Given the description of an element on the screen output the (x, y) to click on. 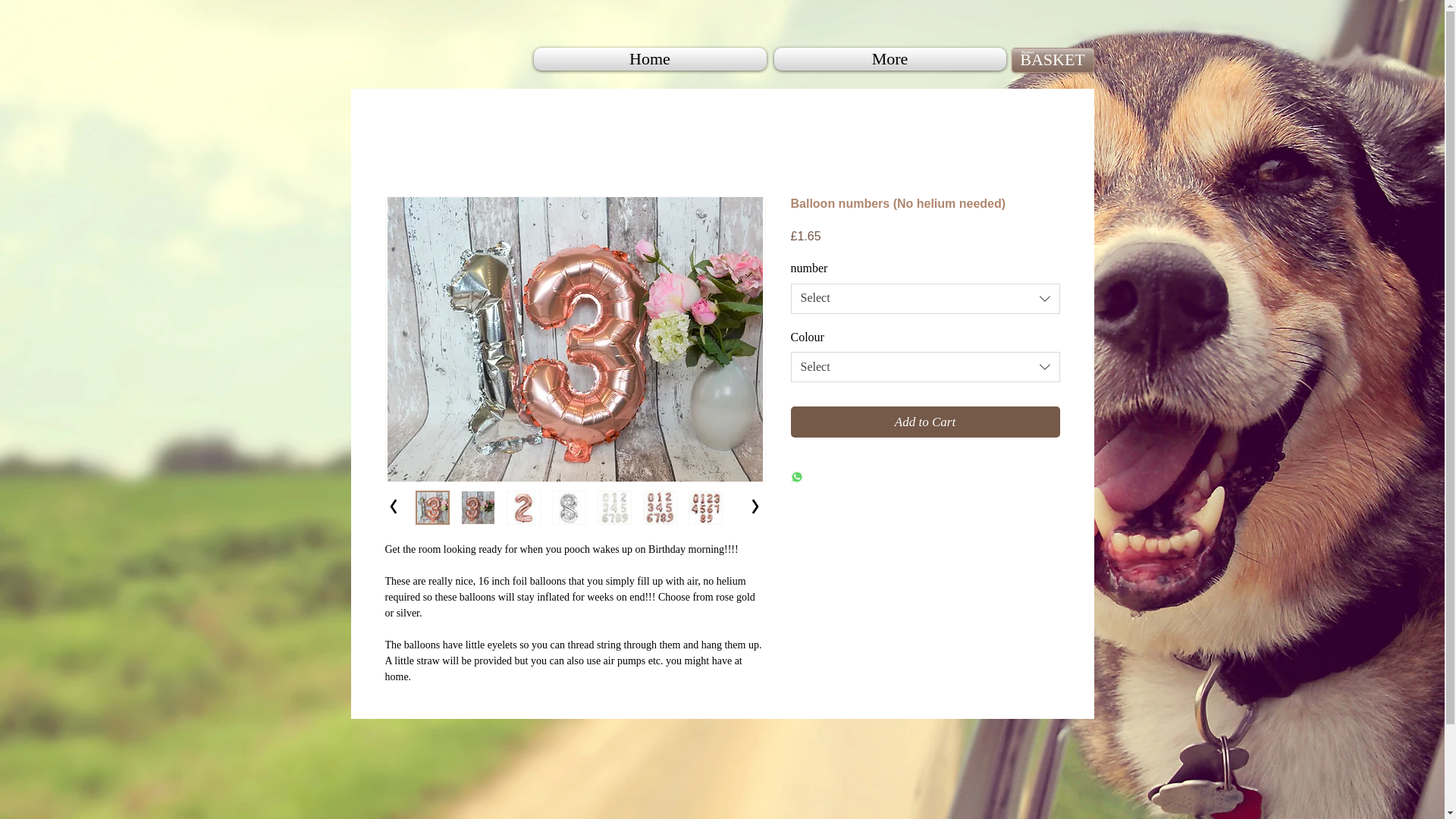
Home (652, 58)
Basket (1031, 51)
Basket (1031, 51)
Select (924, 367)
Add to Cart (924, 422)
Select (924, 298)
BASKET (1052, 59)
